Given the description of an element on the screen output the (x, y) to click on. 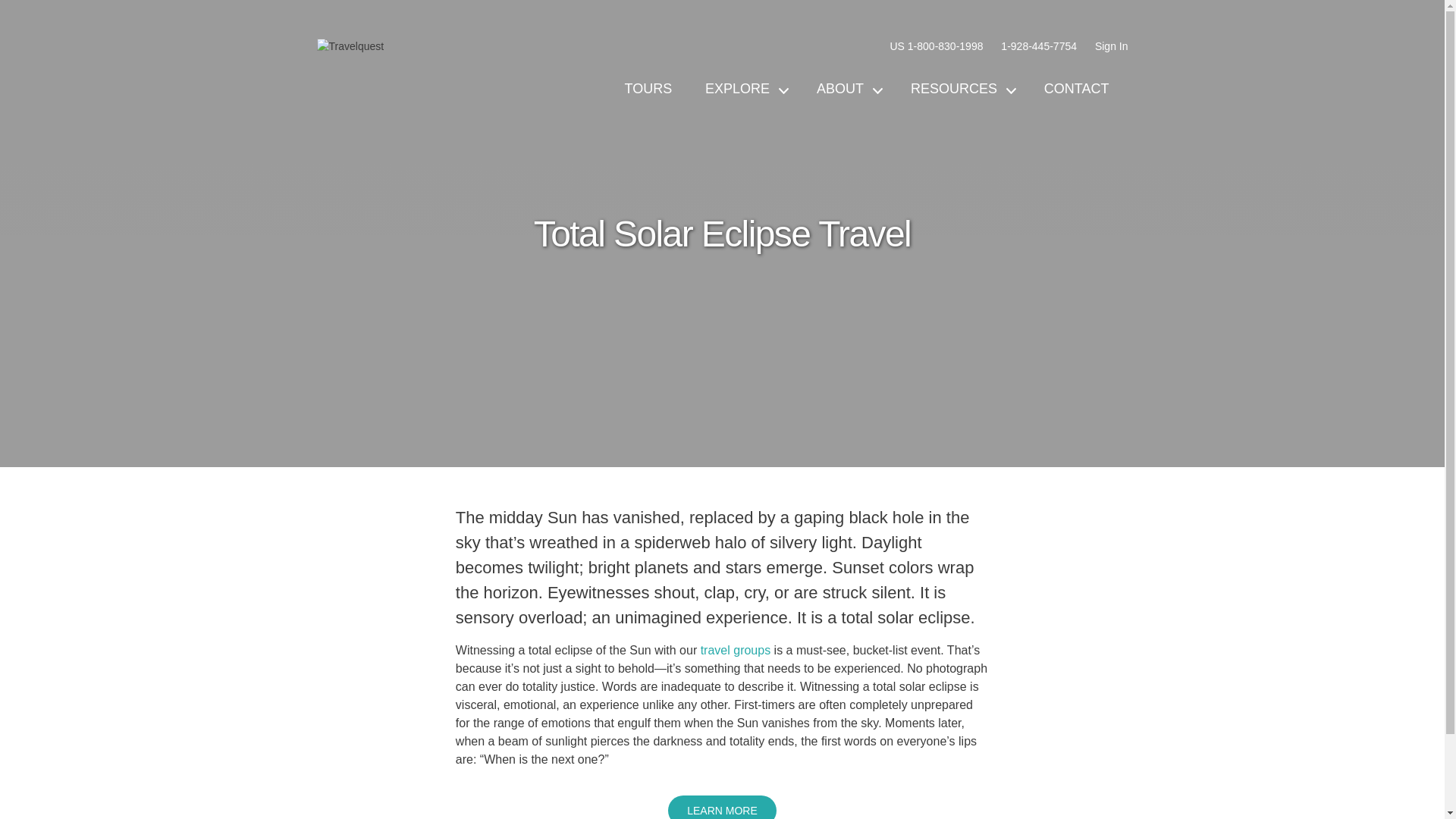
ABOUT (846, 88)
EXPLORE (744, 88)
1-928-445-7754 (1039, 46)
TOURS (647, 88)
RESOURCES (960, 88)
Travelquest  (350, 46)
LEARN MORE (722, 807)
US 1-800-830-1998 (935, 46)
CONTACT (1076, 88)
Sign In (1111, 46)
travel groups (735, 649)
